Given the description of an element on the screen output the (x, y) to click on. 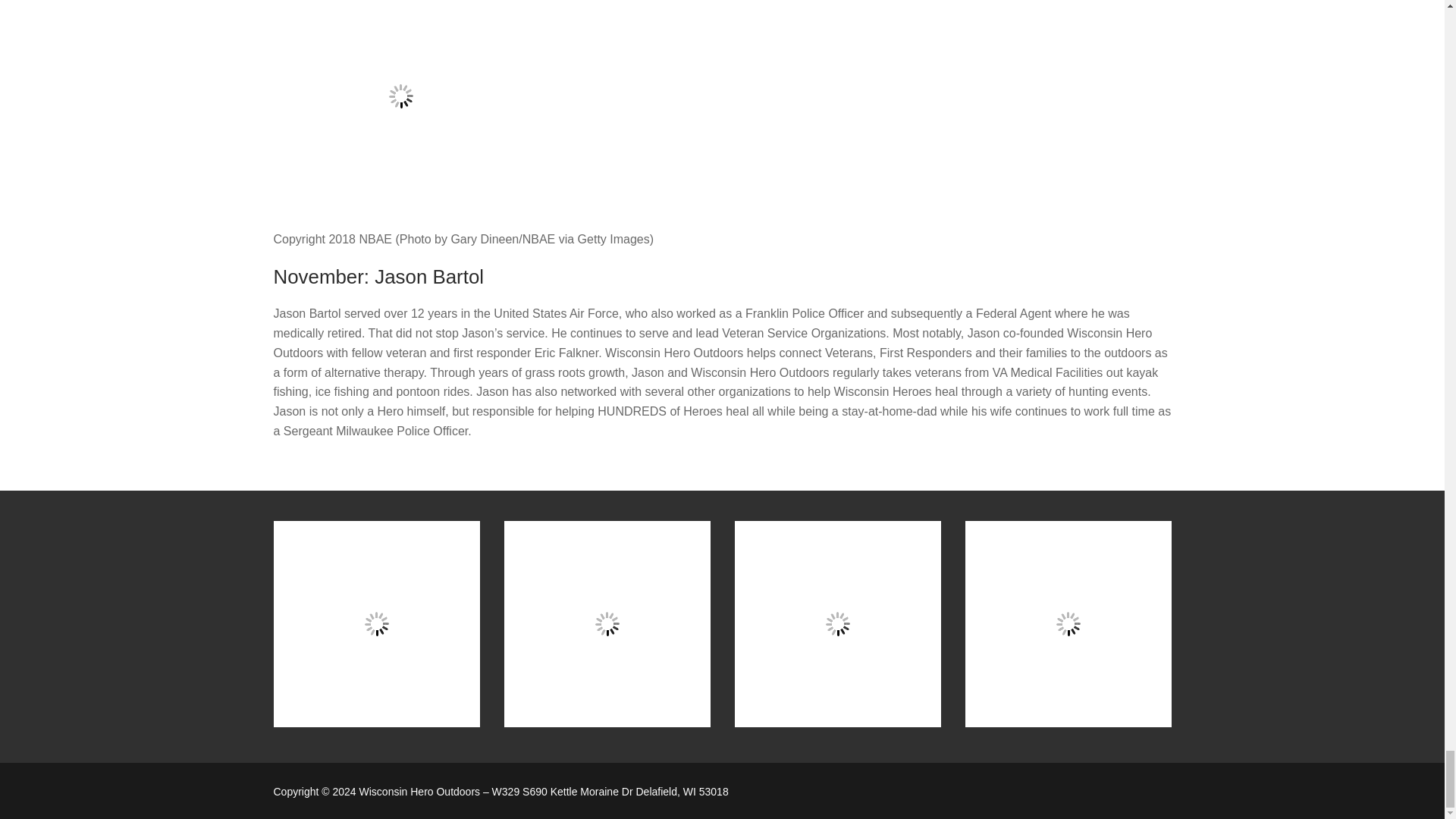
News (836, 623)
Sponsors (1066, 623)
